Given the description of an element on the screen output the (x, y) to click on. 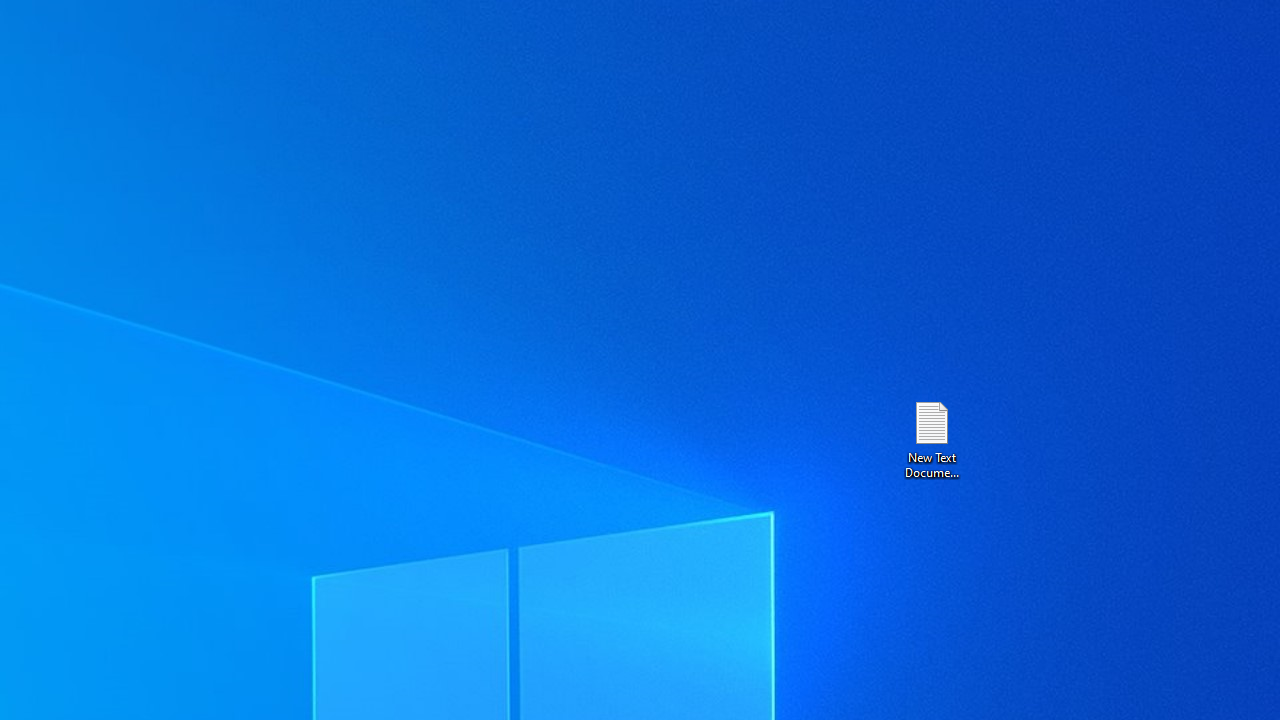
New Text Document (2) (931, 438)
